Given the description of an element on the screen output the (x, y) to click on. 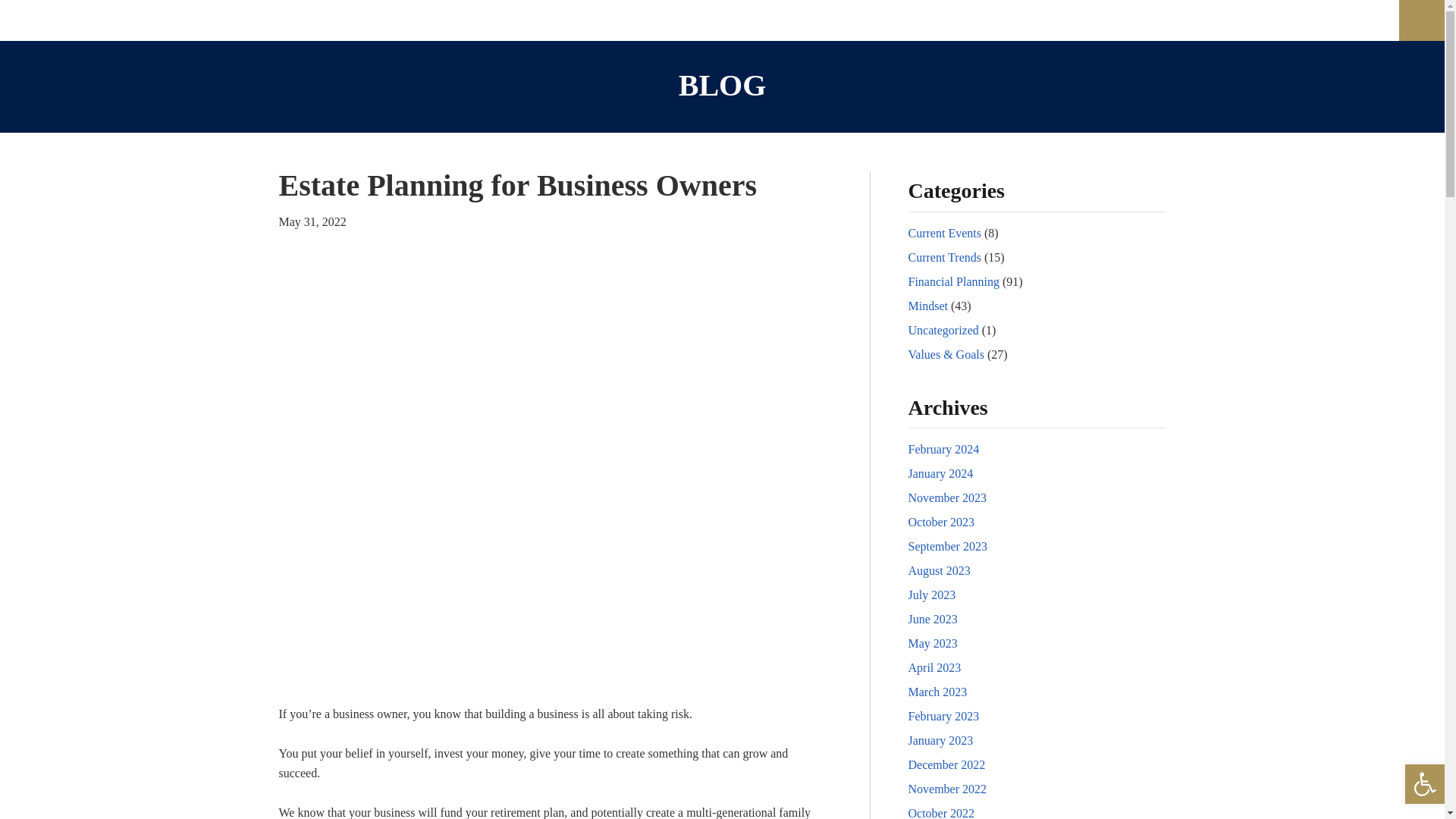
CONNECT (1126, 20)
BROKER CHECK (1237, 20)
Current Events (944, 232)
January 2024 (941, 472)
Uncategorized (943, 329)
ME (976, 20)
Current Trends (944, 256)
YOU (920, 20)
May 2023 (933, 643)
